Given the description of an element on the screen output the (x, y) to click on. 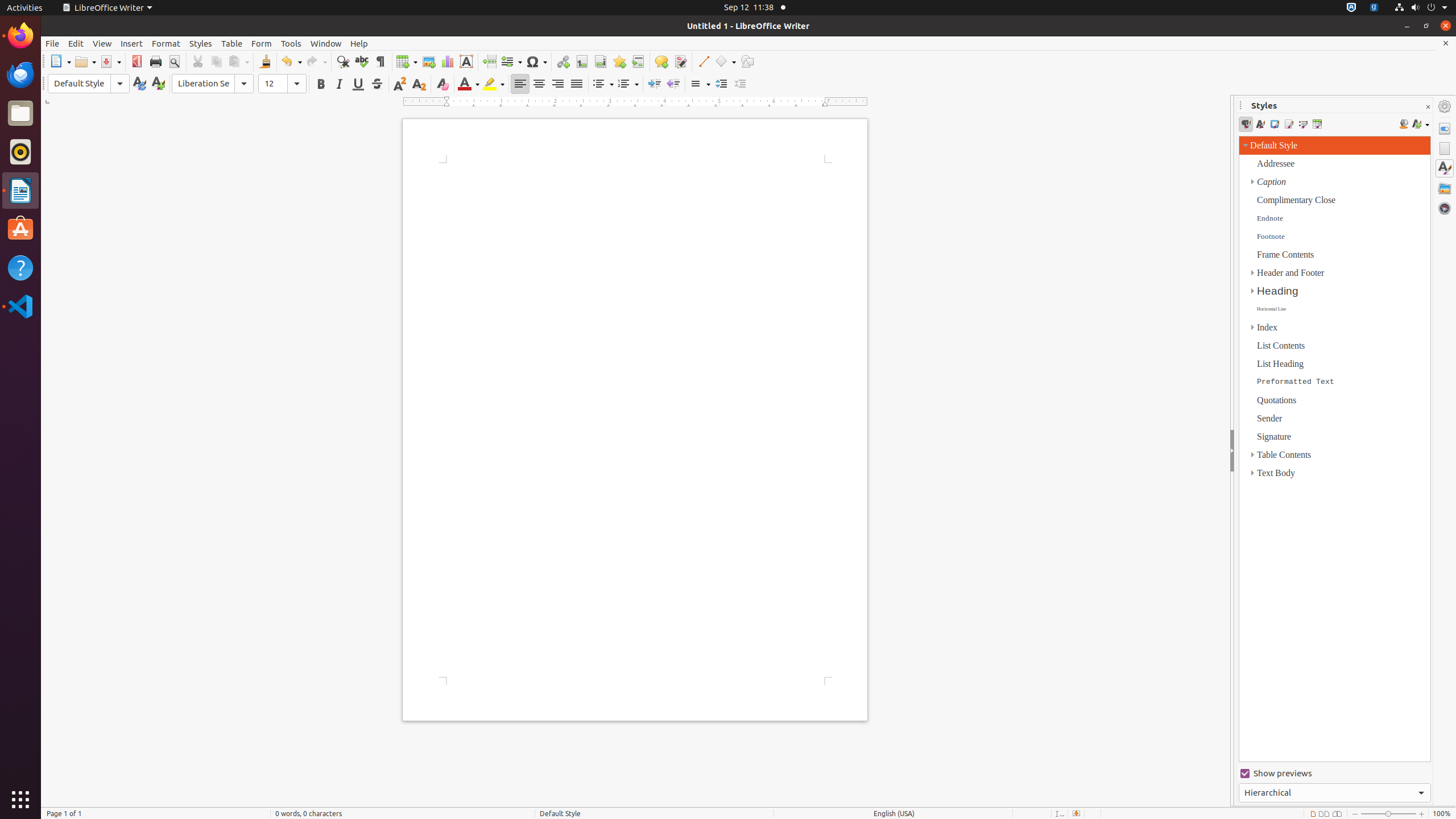
Ubuntu Software Element type: push-button (20, 229)
Comment Element type: push-button (660, 61)
Bullets Element type: push-button (602, 83)
Paste Element type: push-button (237, 61)
Text Box Element type: push-button (465, 61)
